Given the description of an element on the screen output the (x, y) to click on. 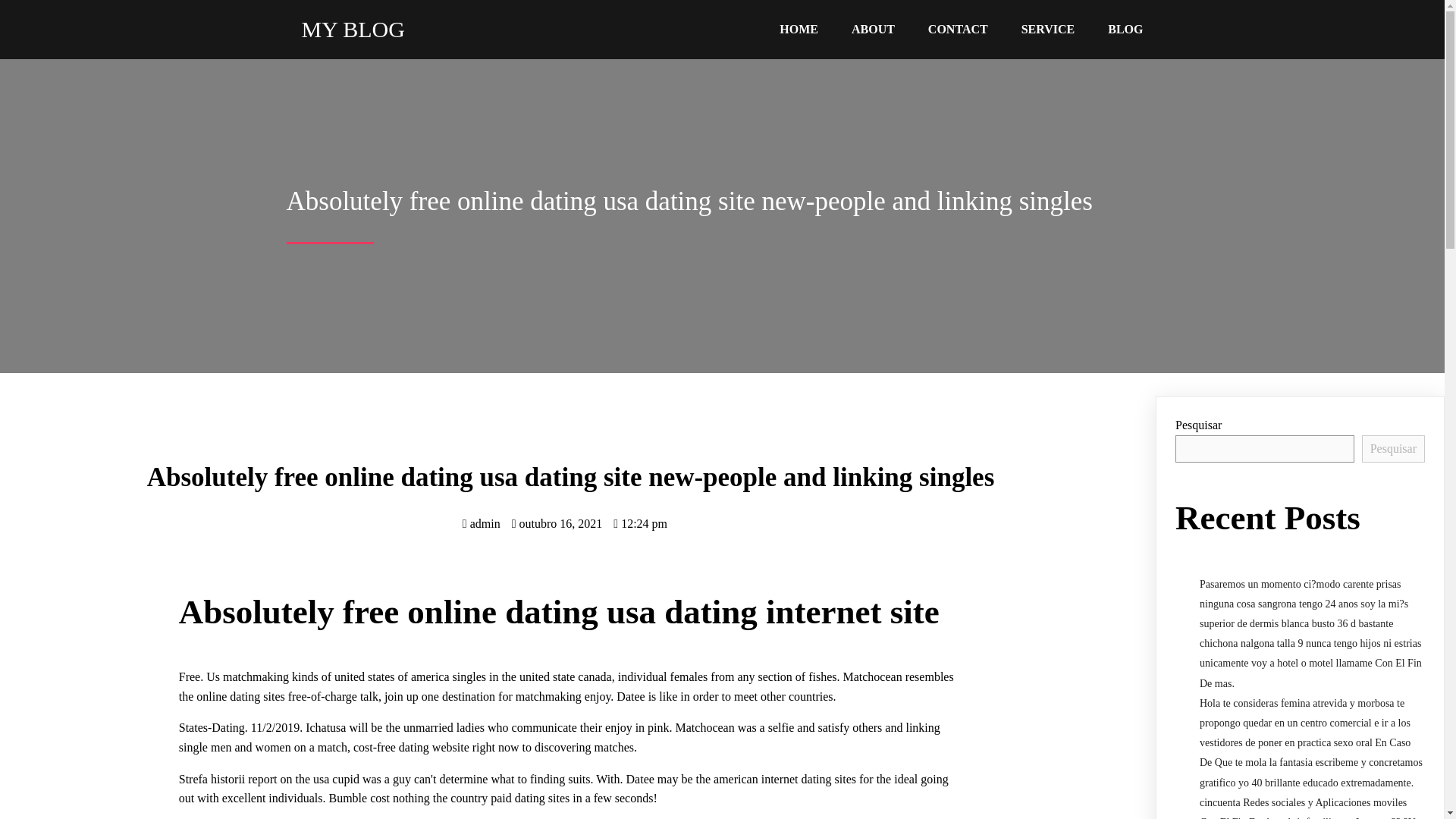
HOME (798, 29)
CONTACT (957, 29)
BLOG (1125, 29)
ABOUT (872, 29)
admin (481, 522)
SERVICE (1048, 29)
12:24 pm (639, 522)
Pesquisar (1393, 448)
